Given the description of an element on the screen output the (x, y) to click on. 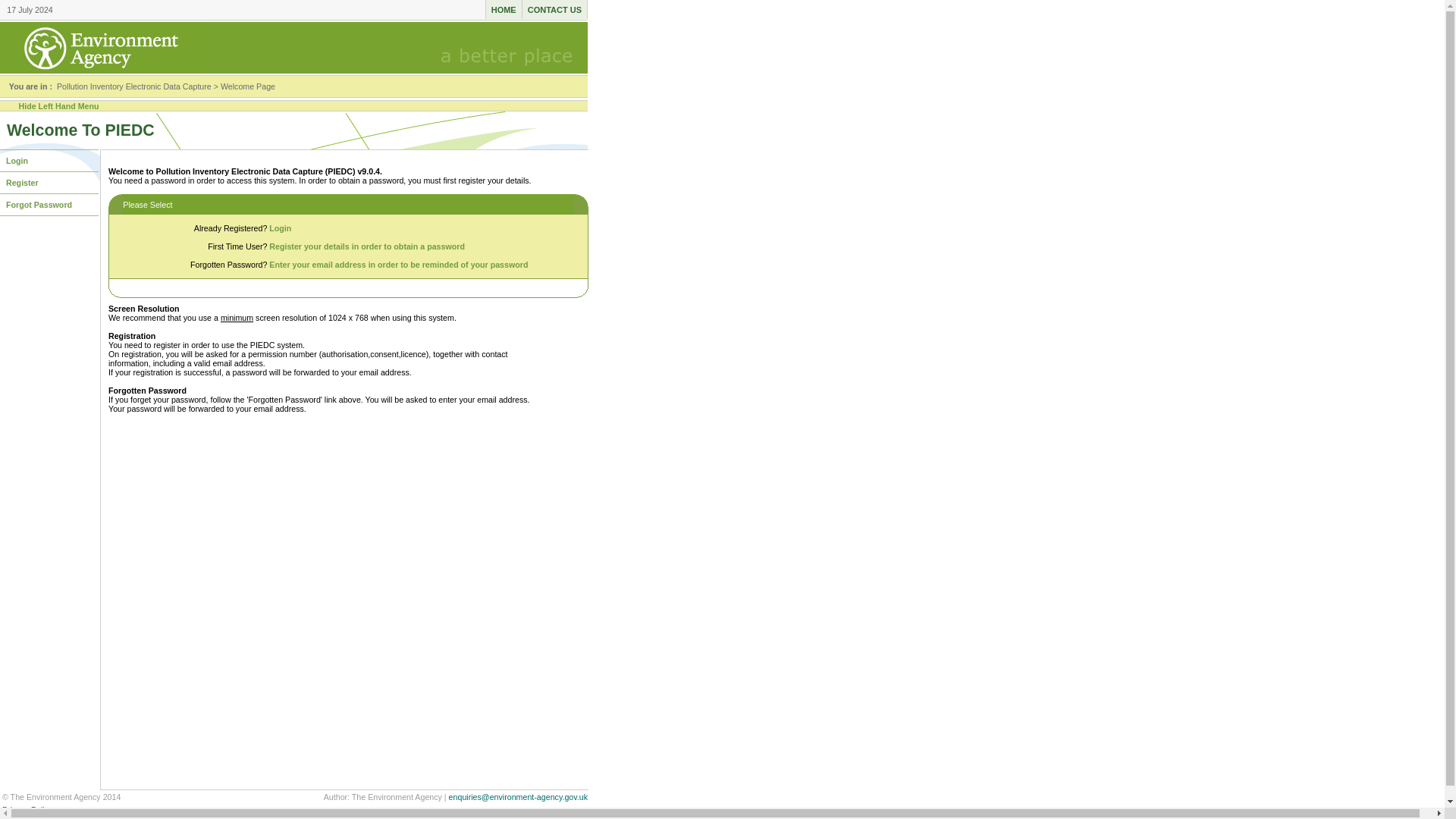
Click here to login in (49, 160)
CONTACT US (555, 9)
Hide Left Hand Menu (58, 105)
Register your details in order to obtain a password (366, 245)
HOME (503, 9)
Contact Us (555, 9)
Login (280, 227)
Hide Left Hand Menu (58, 105)
Click here if you've forgotten your password (49, 204)
PIEDC Home Page (503, 9)
Environment Agency Homepage (100, 70)
Forgot Password (49, 204)
Click here to register (49, 182)
Privacy Policy (27, 809)
Login (49, 160)
